Given the description of an element on the screen output the (x, y) to click on. 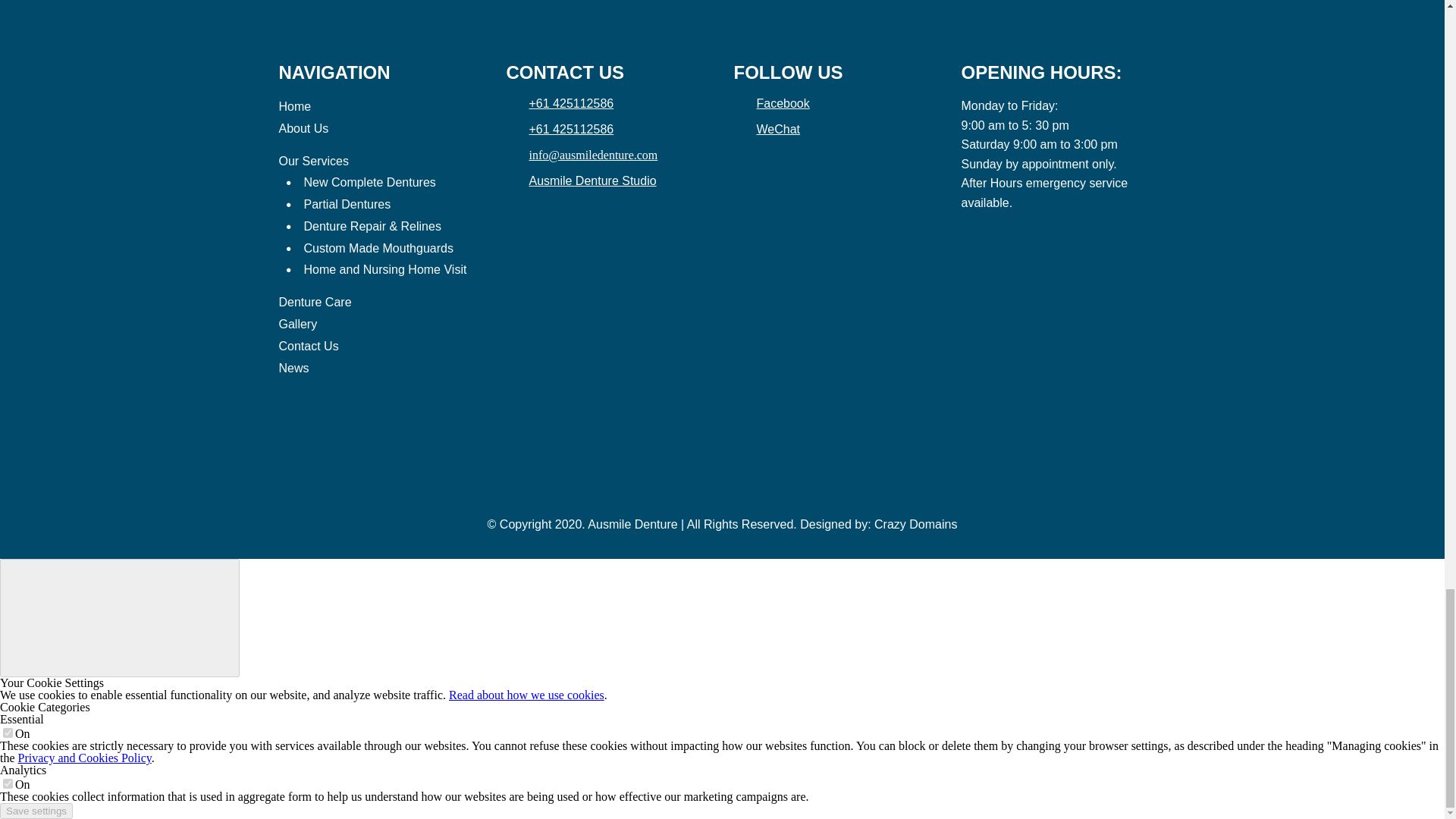
New Complete Dentures (368, 182)
Ausmile Denture Studio (581, 181)
Denture Care (315, 302)
Home and Nursing Home Visit (383, 269)
on (7, 783)
WeChat (766, 129)
Facebook (771, 103)
Home (295, 106)
Gallery (299, 324)
News (293, 368)
